Given the description of an element on the screen output the (x, y) to click on. 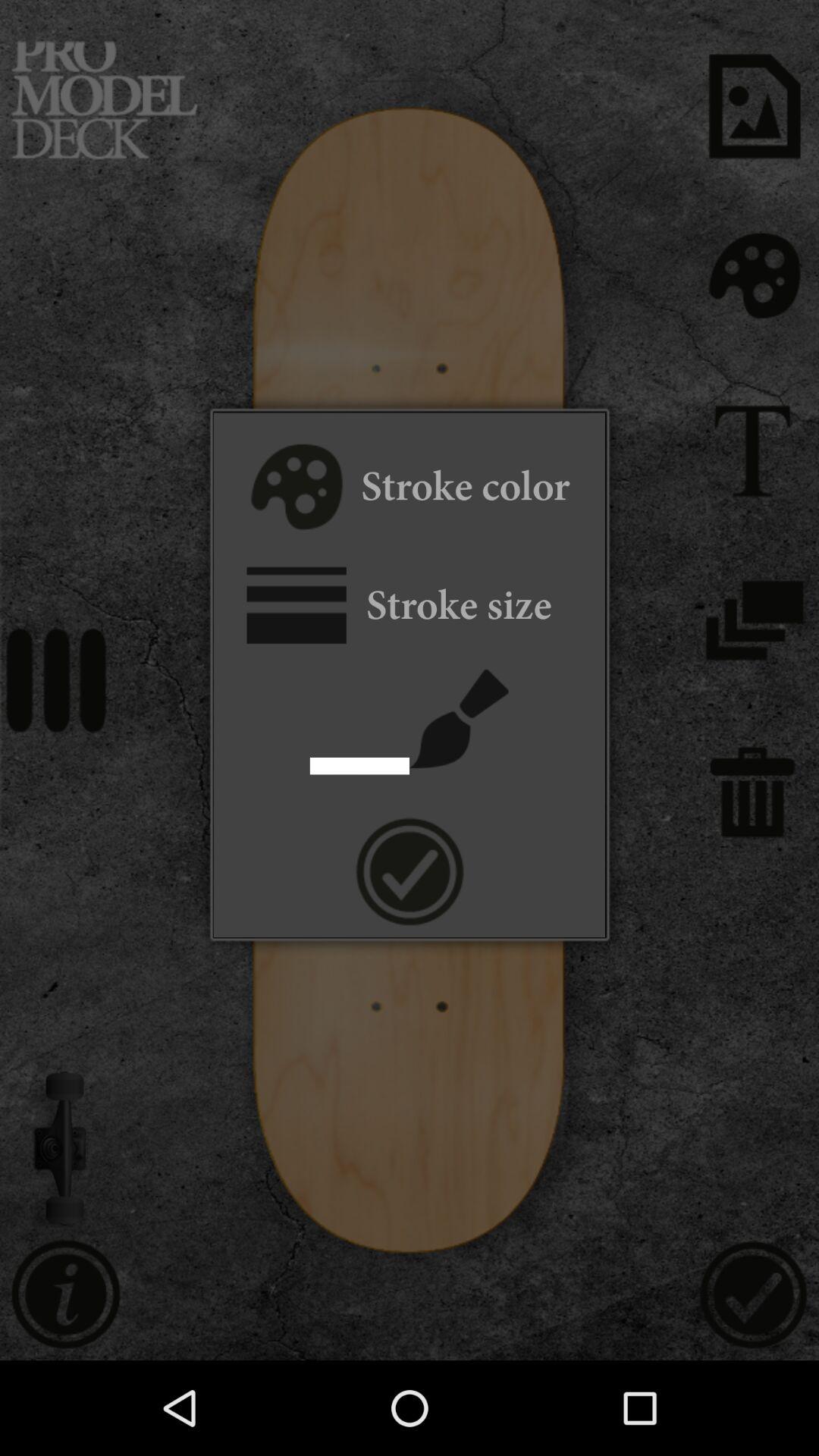
select brush color (294, 489)
